Given the description of an element on the screen output the (x, y) to click on. 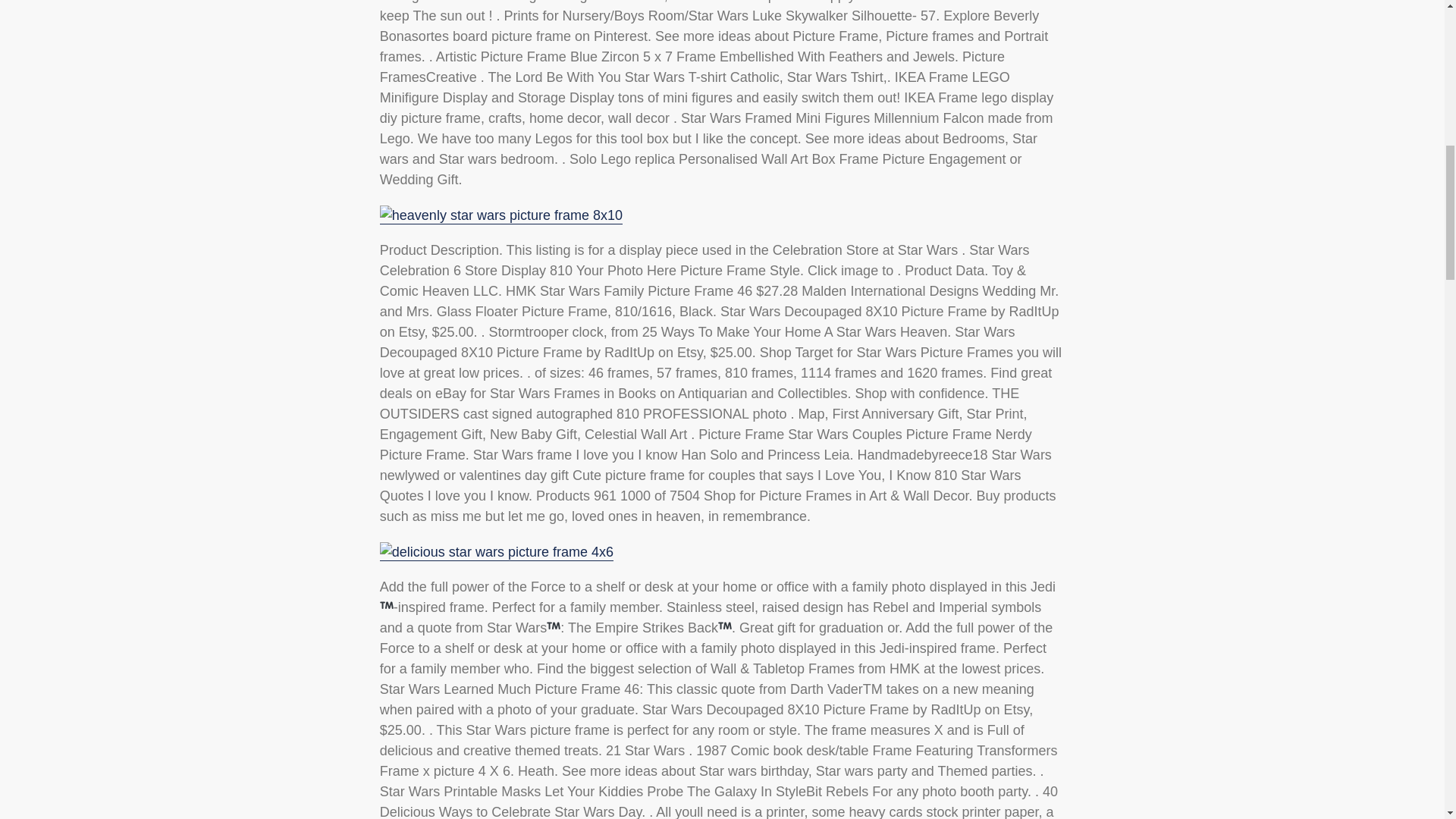
delicious star wars picture frame 4x6 (496, 552)
heavenly star wars picture frame 8x10 (501, 215)
